Given the description of an element on the screen output the (x, y) to click on. 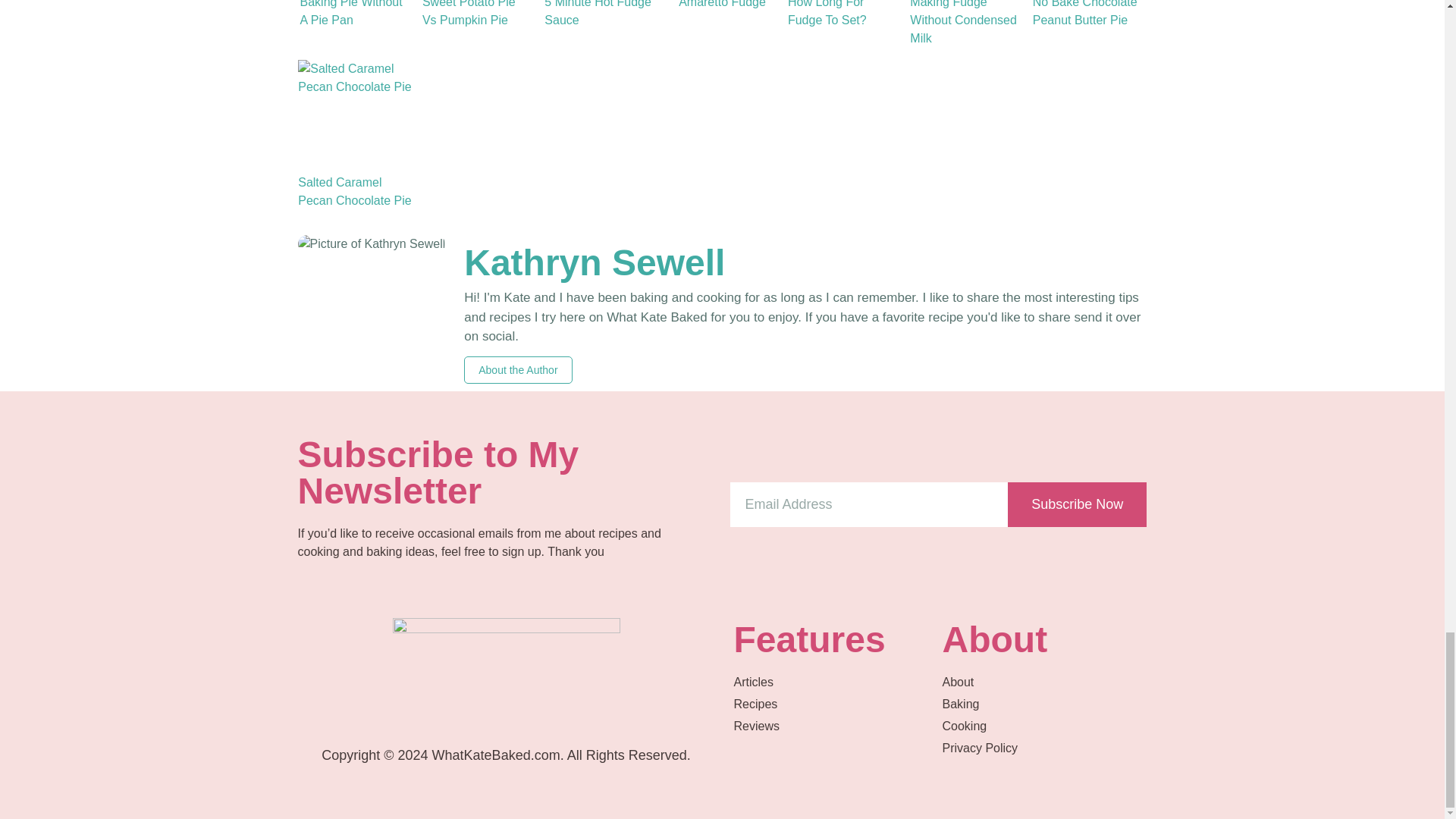
Cooking (1042, 726)
Salted Caramel Pecan Chocolate Pie (355, 116)
How Long For Fudge To Set? (845, 24)
Reviews (833, 726)
About the Author (518, 370)
Recipes (833, 704)
About (1042, 682)
Making Fudge Without Condensed Milk (966, 24)
Sweet Potato Pie Vs Pumpkin Pie (477, 24)
Baking Pie Without A Pie Pan (354, 24)
